Given the description of an element on the screen output the (x, y) to click on. 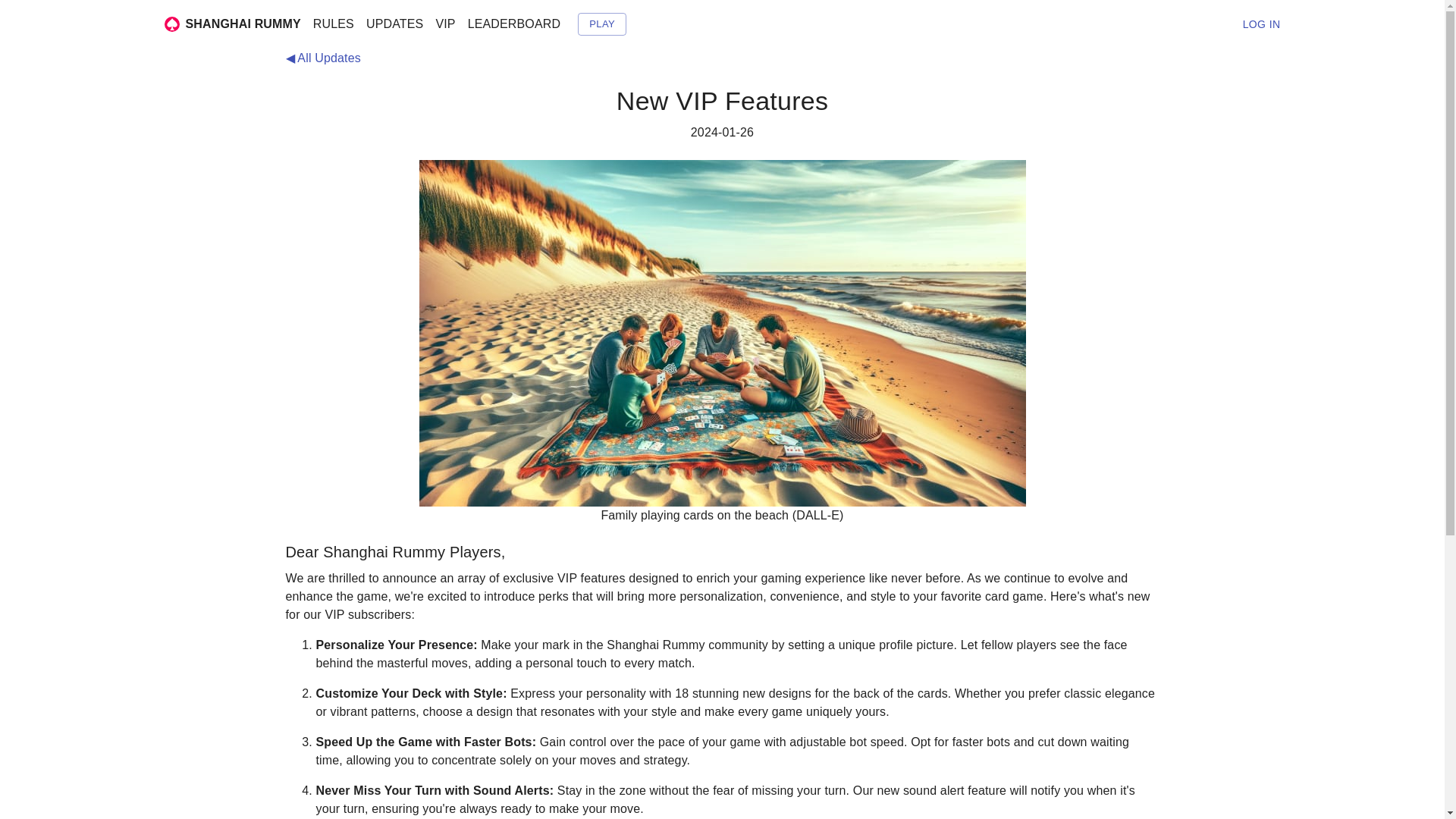
PLAY (602, 24)
UPDATES (394, 24)
VIP (445, 24)
LOG IN (1261, 24)
RULES (333, 24)
SHANGHAI RUMMY (228, 23)
LEADERBOARD (514, 24)
